Given the description of an element on the screen output the (x, y) to click on. 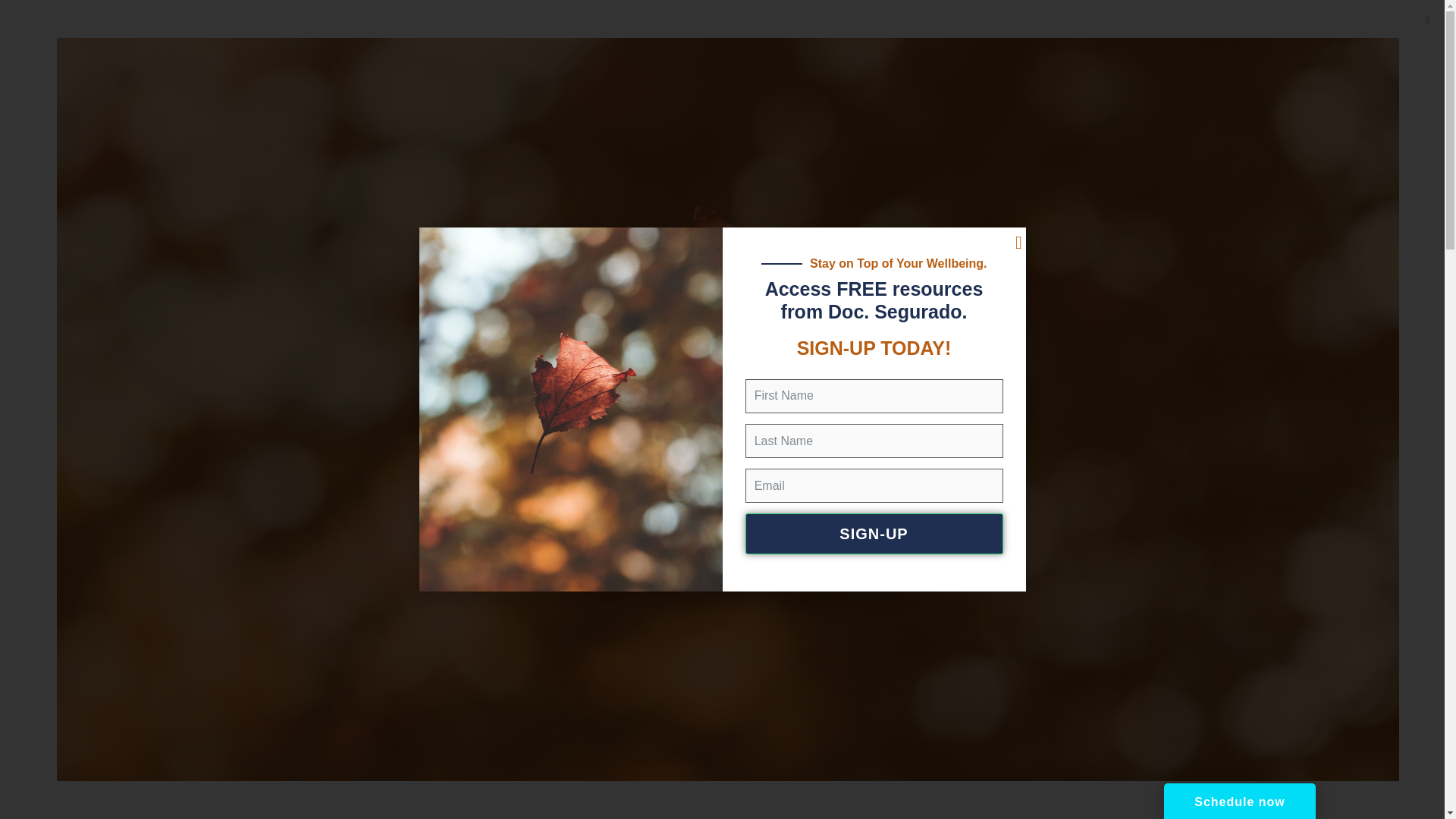
ABOUT DOC SEGURADO (533, 106)
Youtube (15, 448)
EDUCATION (794, 106)
MEDIA (861, 106)
Hide (5, 538)
Facebook (15, 327)
Linkedin (15, 387)
More (15, 508)
CONTACT (920, 106)
Pinterest (15, 417)
Instagram (15, 478)
Twitter (15, 357)
ENGLISH (36, 28)
English (36, 28)
LIFESTYLE (644, 106)
